Given the description of an element on the screen output the (x, y) to click on. 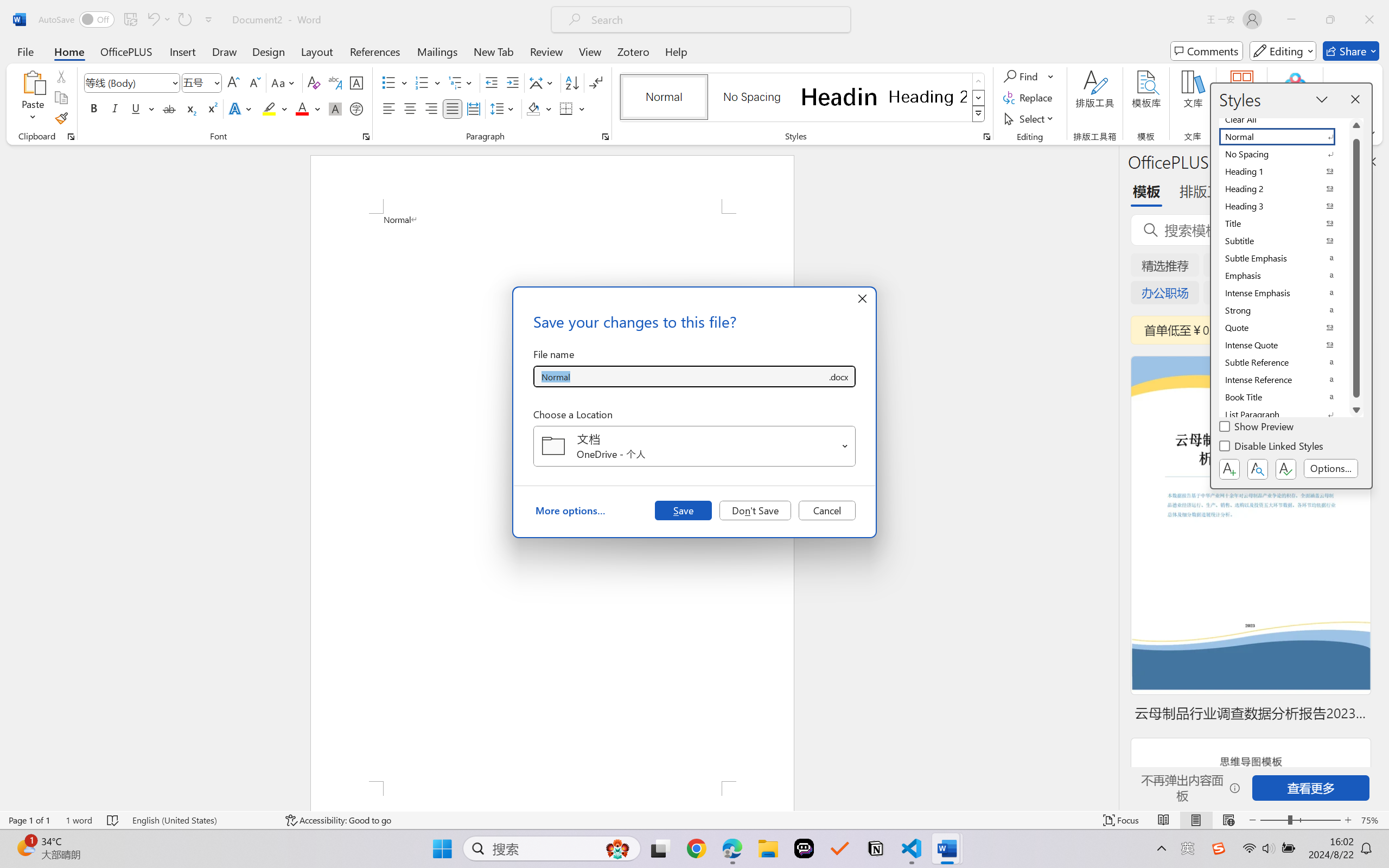
File name (680, 376)
AutomationID: BadgeAnchorLargeTicker (24, 847)
Microsoft search (715, 19)
Cut (60, 75)
Intense Quote (1283, 345)
Font (132, 82)
Poe (804, 848)
Paste (33, 97)
Text Effects and Typography (241, 108)
Italic (115, 108)
Subtle Emphasis (1283, 258)
Accessibility Checker Accessibility: Good to go (338, 819)
